Given the description of an element on the screen output the (x, y) to click on. 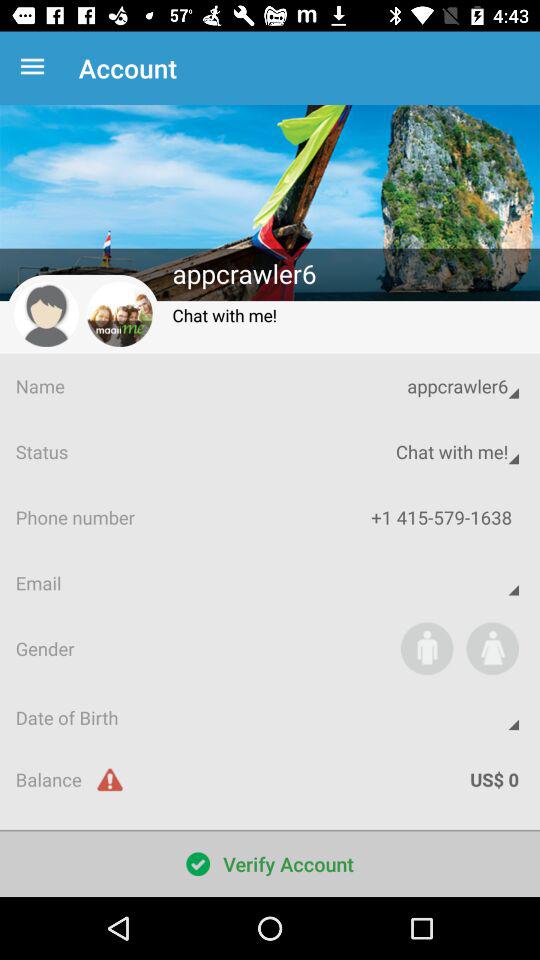
open the app below email item (492, 648)
